Given the description of an element on the screen output the (x, y) to click on. 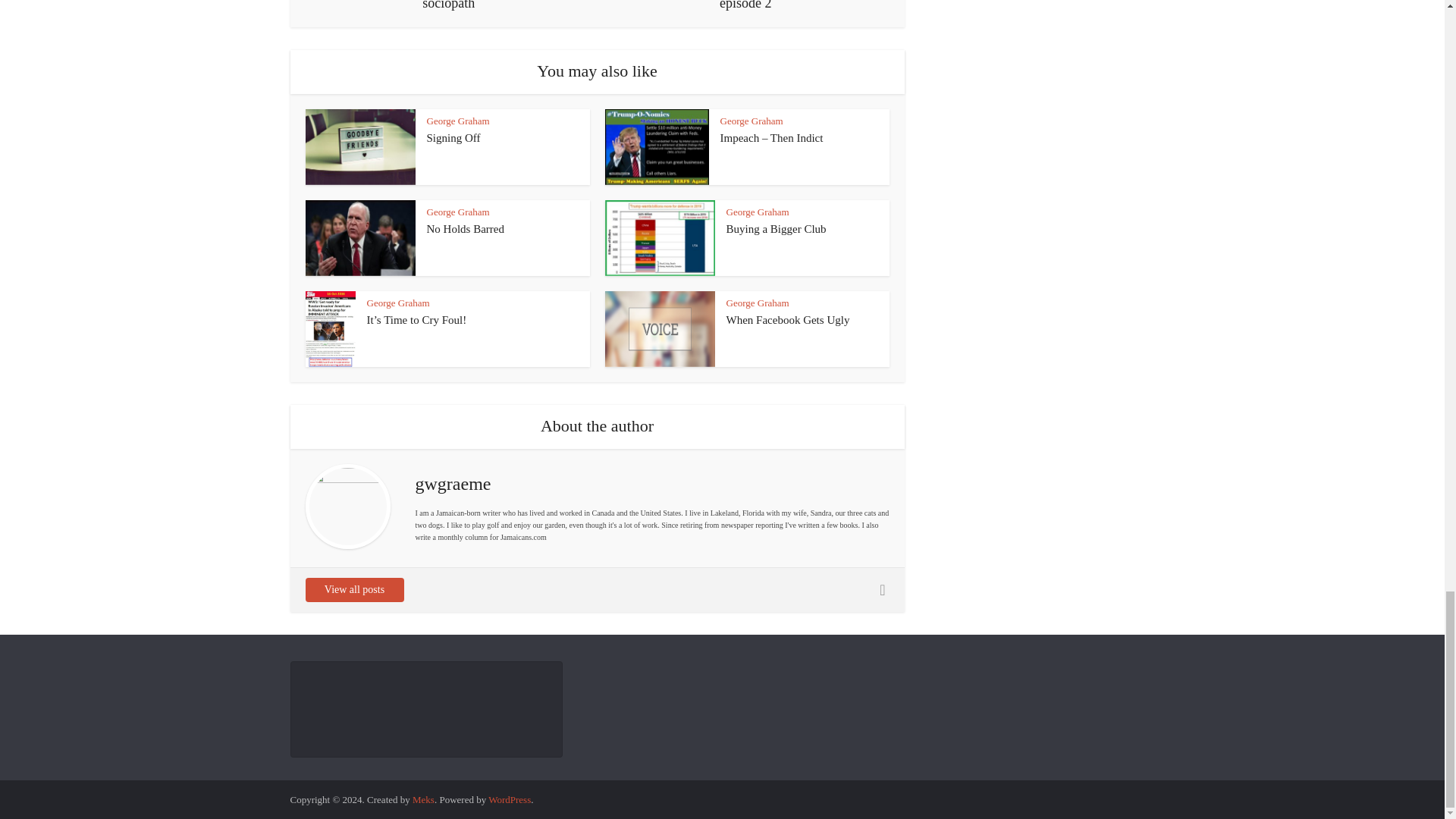
Signing Off (453, 137)
When Facebook Gets Ugly (788, 319)
Buying a Bigger Club (776, 228)
Signing Off (453, 137)
No Holds Barred (464, 228)
George Graham (751, 120)
George Graham (457, 120)
Election 2012 tip: How to spot a sociopath (449, 5)
